Given the description of an element on the screen output the (x, y) to click on. 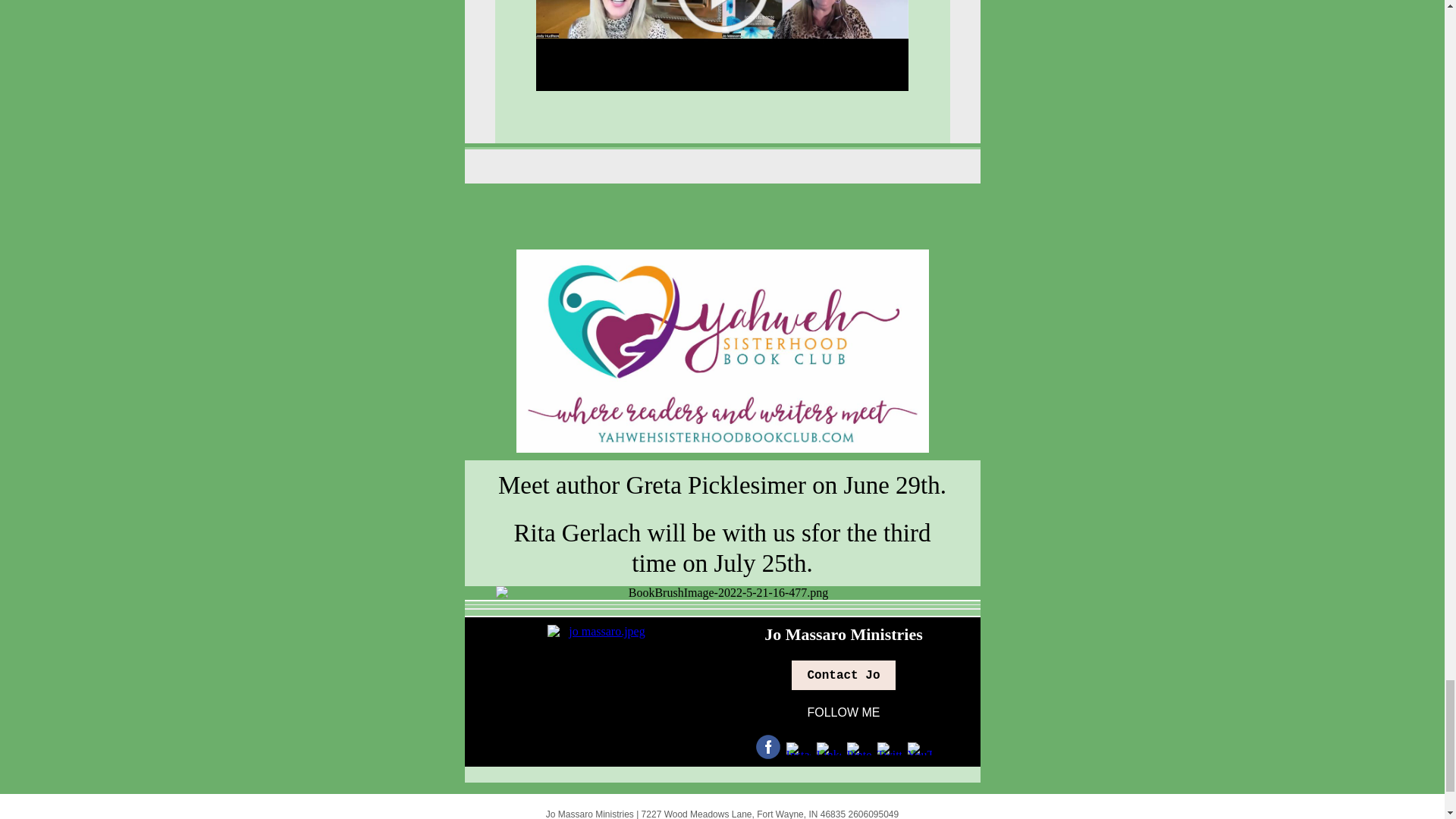
Jo Massaro Ministries (843, 521)
Constant Contact Data Notice (754, 742)
Contact Jo (842, 562)
Update Profile (657, 742)
Try email marketing for free today! (721, 796)
